Given the description of an element on the screen output the (x, y) to click on. 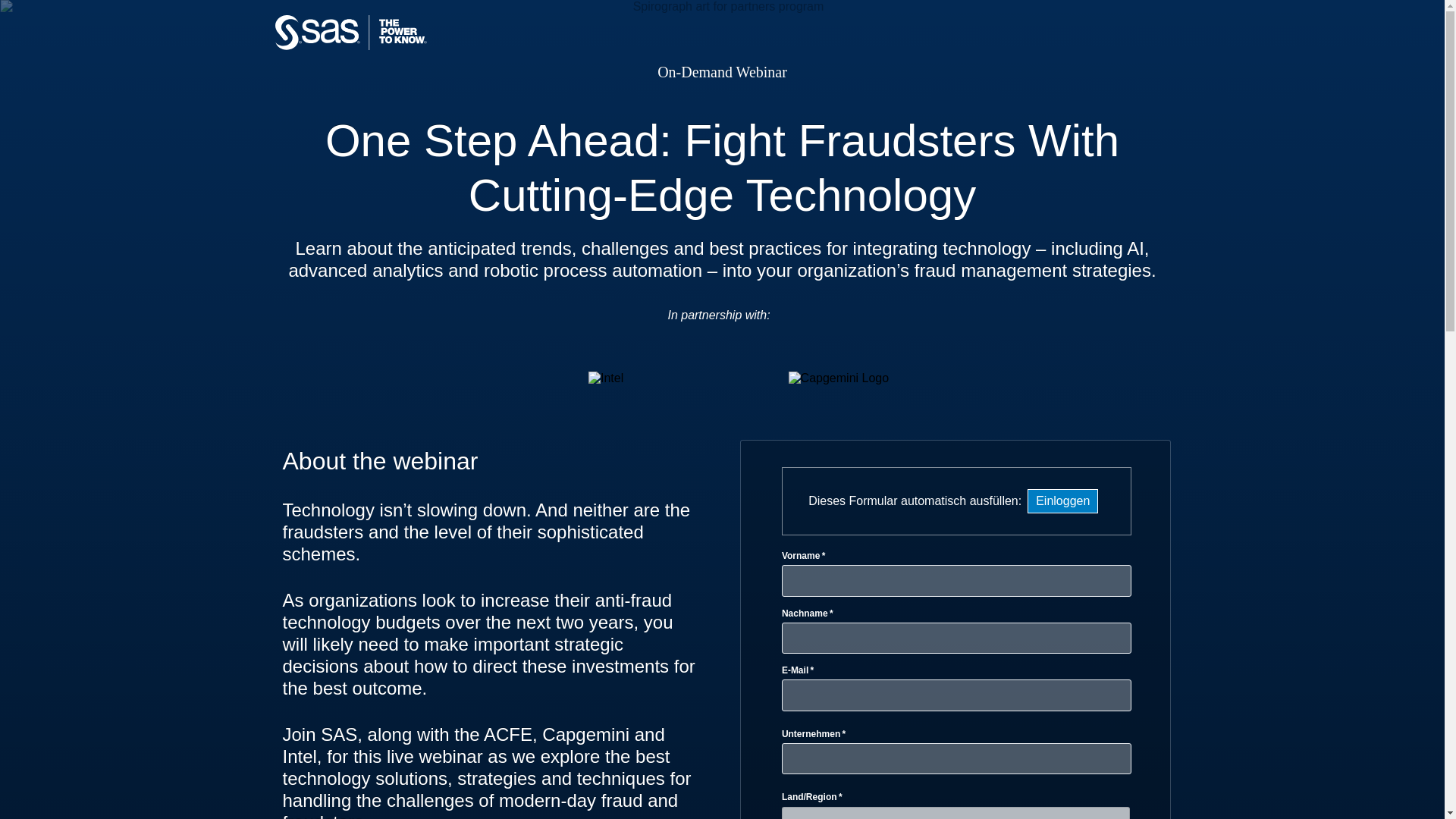
Capgemini Logo (839, 377)
Intel (605, 377)
Einloggen (1062, 500)
SAS Institute (422, 47)
